Given the description of an element on the screen output the (x, y) to click on. 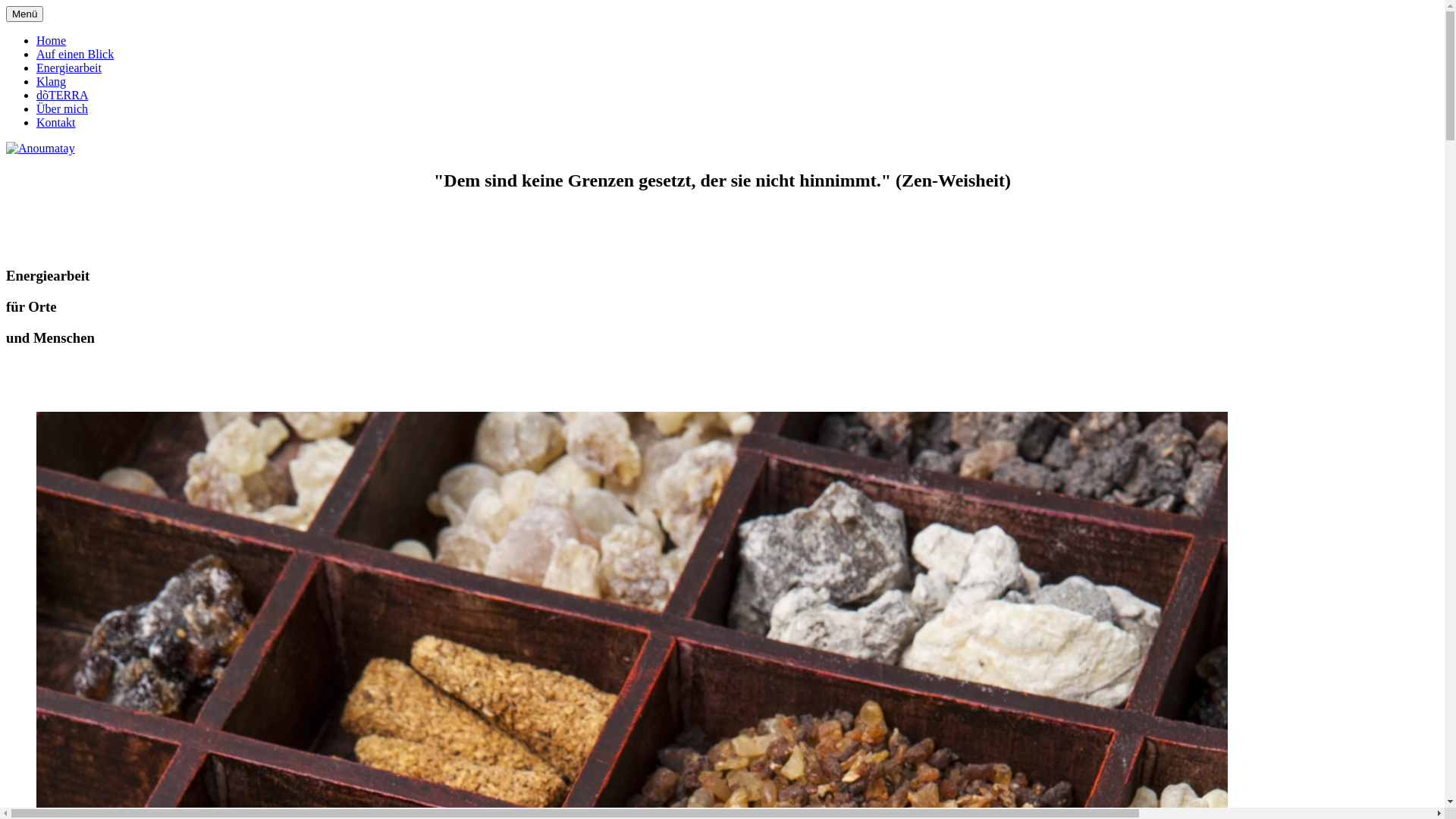
Kontakt Element type: text (55, 122)
Home Element type: text (50, 40)
Energiearbeit Element type: text (68, 67)
Klang Element type: text (50, 81)
Auf einen Blick Element type: text (74, 53)
Anoumatay Element type: hover (40, 148)
